Given the description of an element on the screen output the (x, y) to click on. 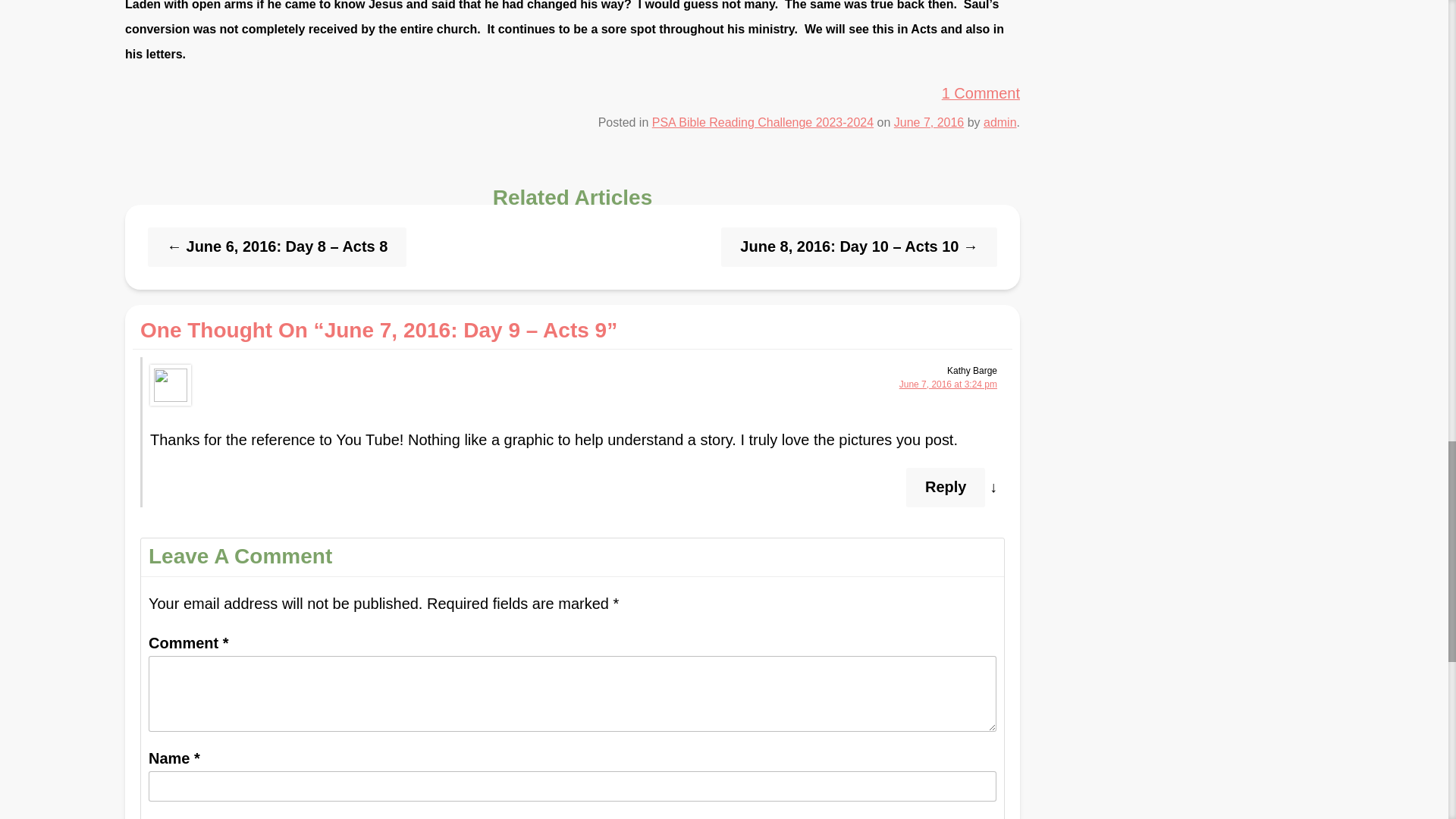
1:34 pm (928, 122)
View all posts by admin (1000, 122)
